Given the description of an element on the screen output the (x, y) to click on. 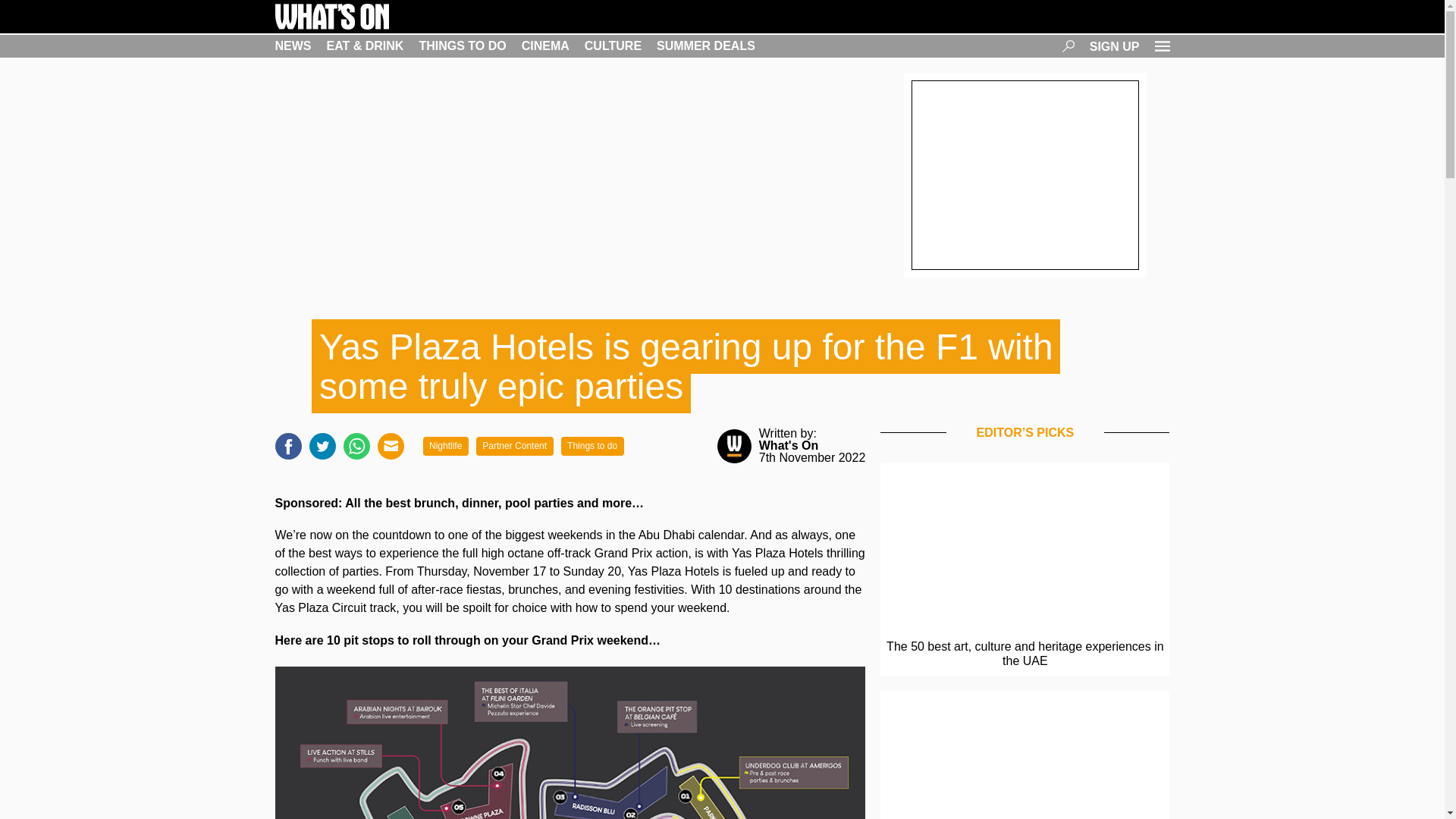
CINEMA (545, 45)
CULTURE (613, 45)
NEWS (293, 45)
SUMMER DEALS (705, 45)
SIGN UP (1114, 45)
THINGS TO DO (462, 45)
